Given the description of an element on the screen output the (x, y) to click on. 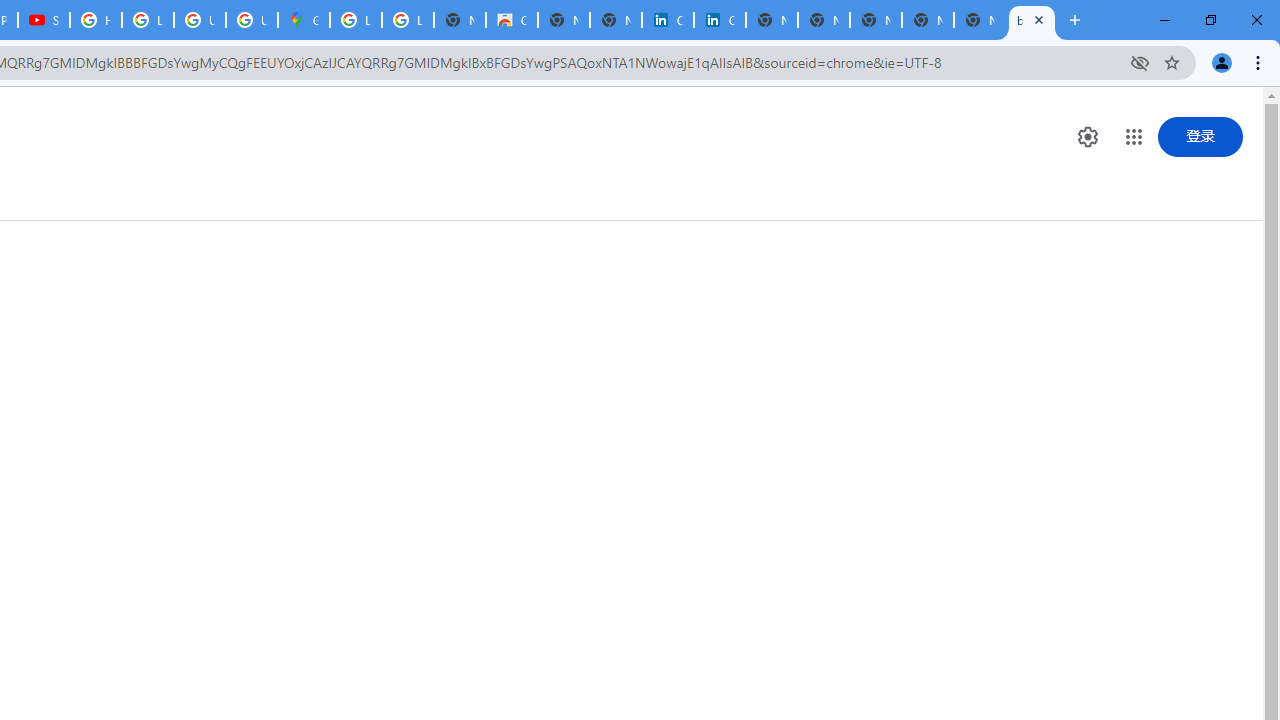
Subscriptions - YouTube (43, 20)
How Chrome protects your passwords - Google Chrome Help (95, 20)
Google Maps (303, 20)
